Given the description of an element on the screen output the (x, y) to click on. 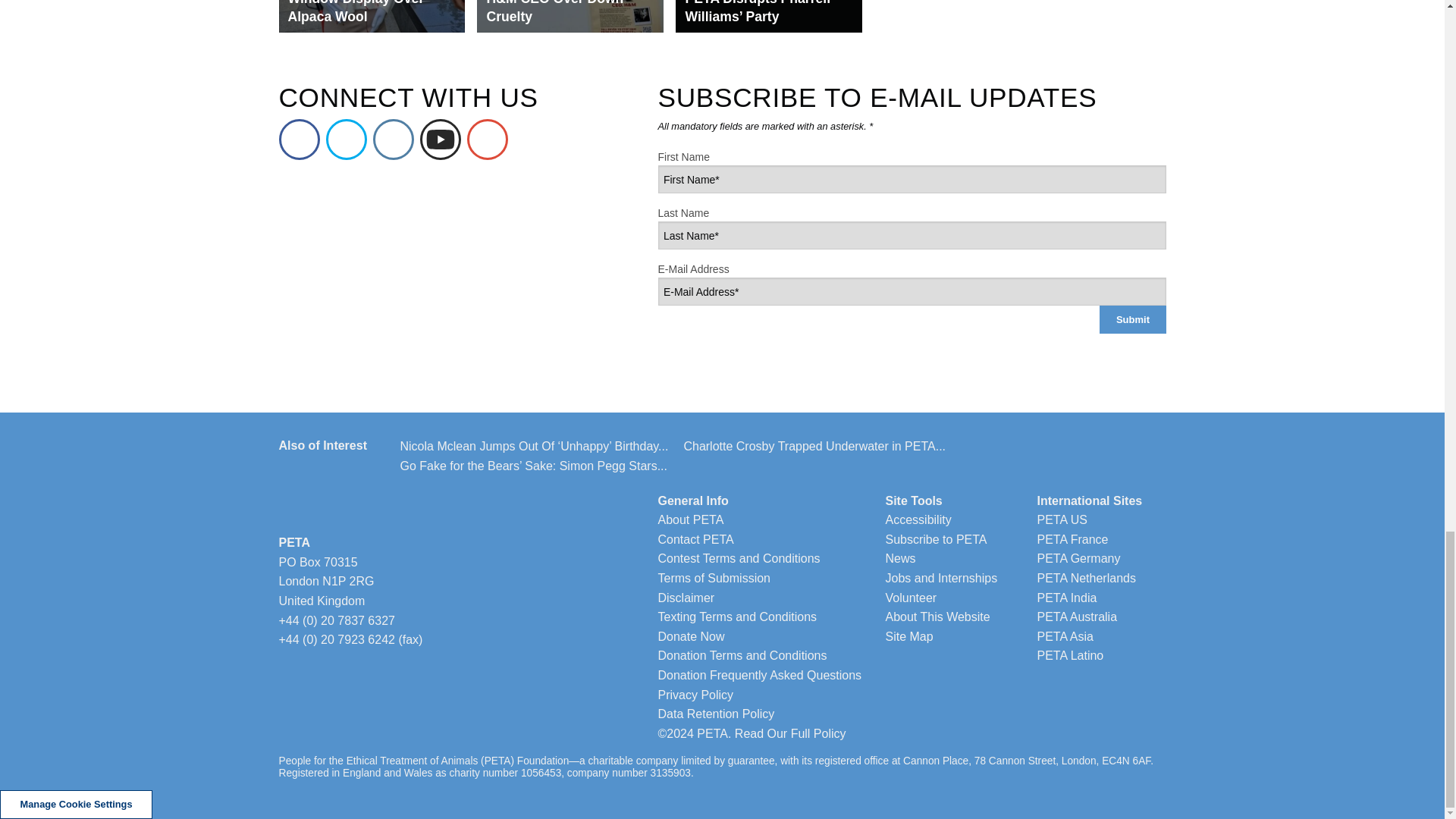
Submit (1132, 319)
